Given the description of an element on the screen output the (x, y) to click on. 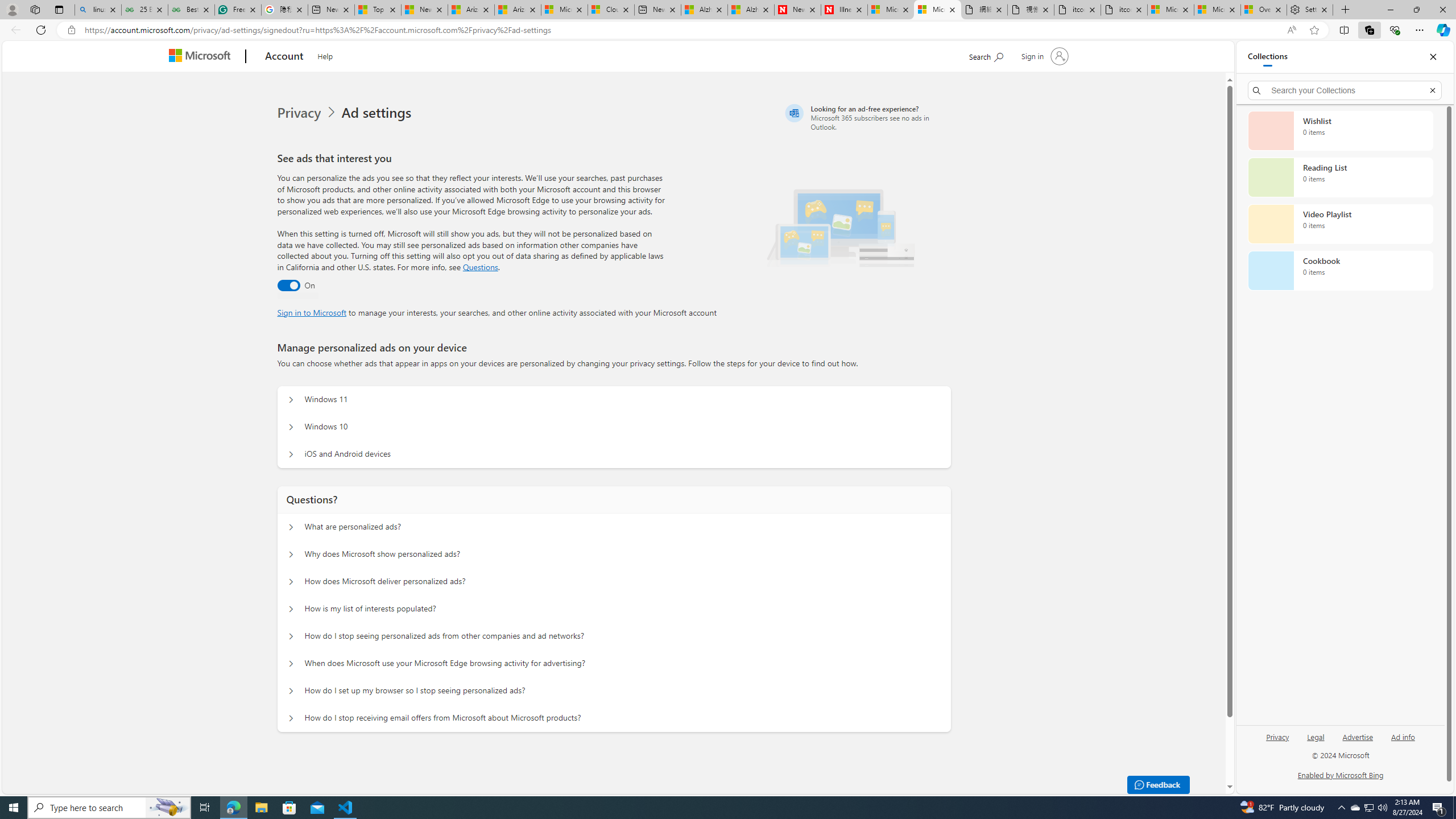
Overview (1263, 9)
Newsweek - News, Analysis, Politics, Business, Technology (797, 9)
Ad info (1402, 736)
Ad settings toggle (287, 285)
Questions? How is my list of interests populated? (290, 608)
Questions? Why does Microsoft show personalized ads? (290, 554)
Sign in to your account (1043, 55)
Privacy (1278, 736)
Advertise (1358, 741)
